Given the description of an element on the screen output the (x, y) to click on. 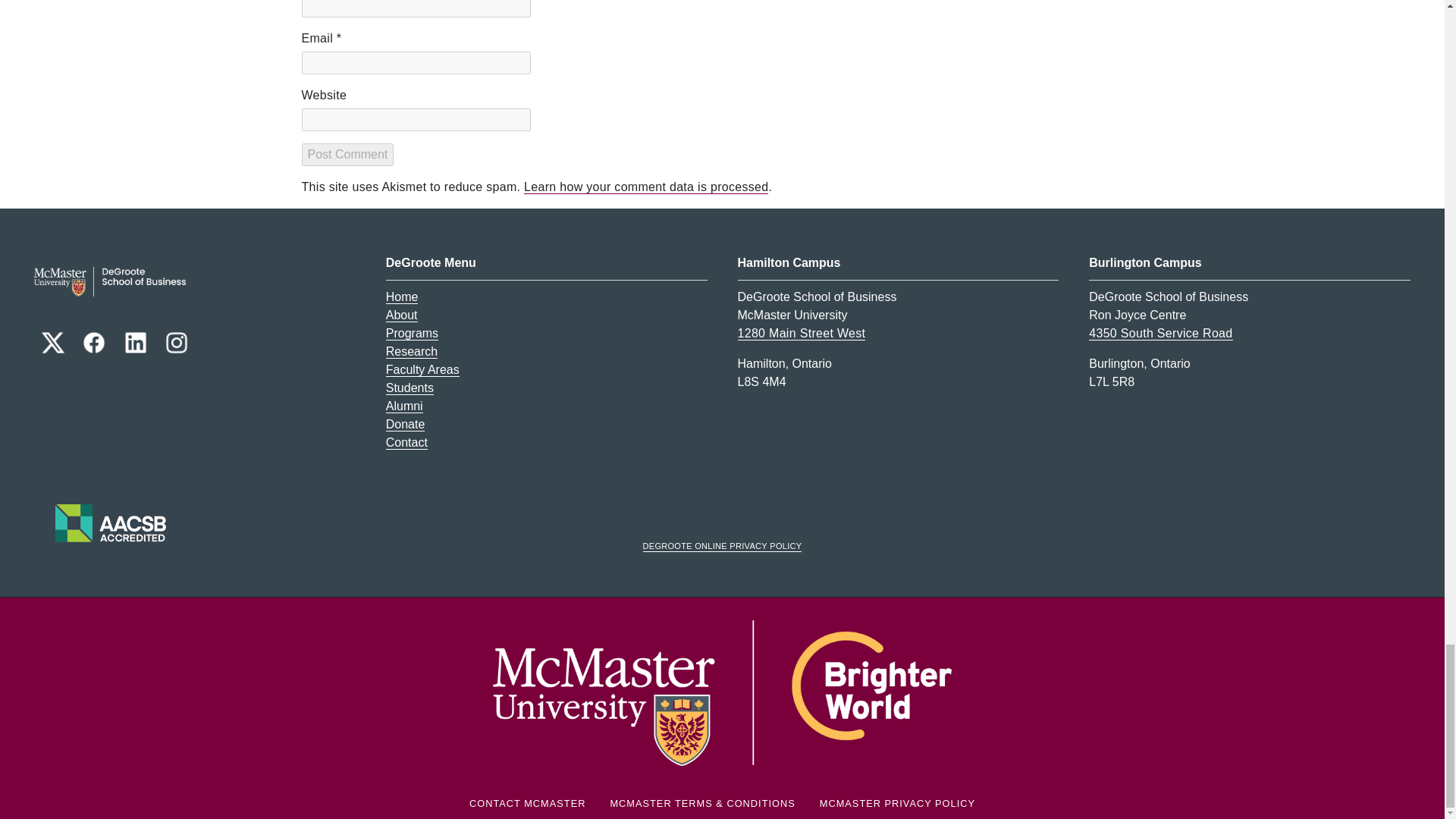
Google Map for the Ron Joyce Centre (1160, 333)
Post Comment (347, 154)
